Given the description of an element on the screen output the (x, y) to click on. 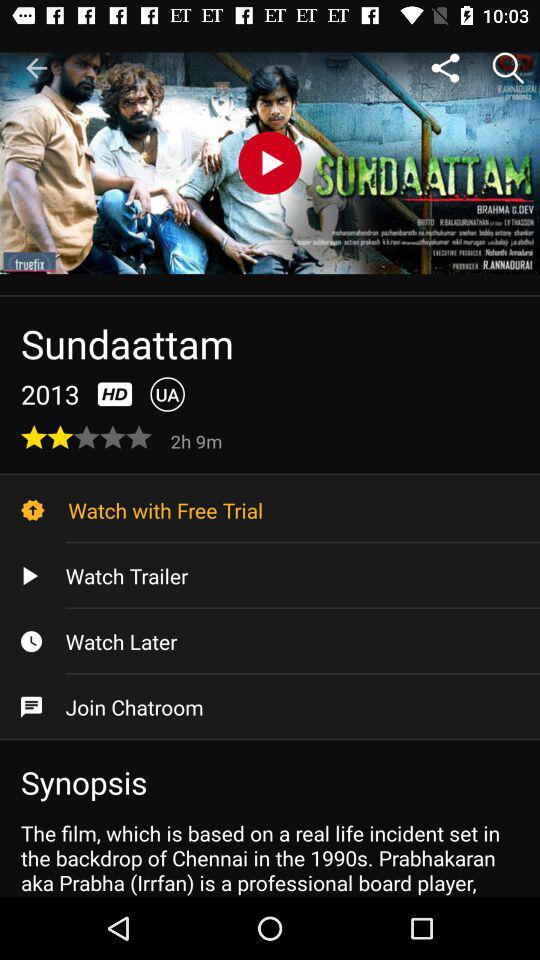
open watch trailer icon (270, 575)
